Given the description of an element on the screen output the (x, y) to click on. 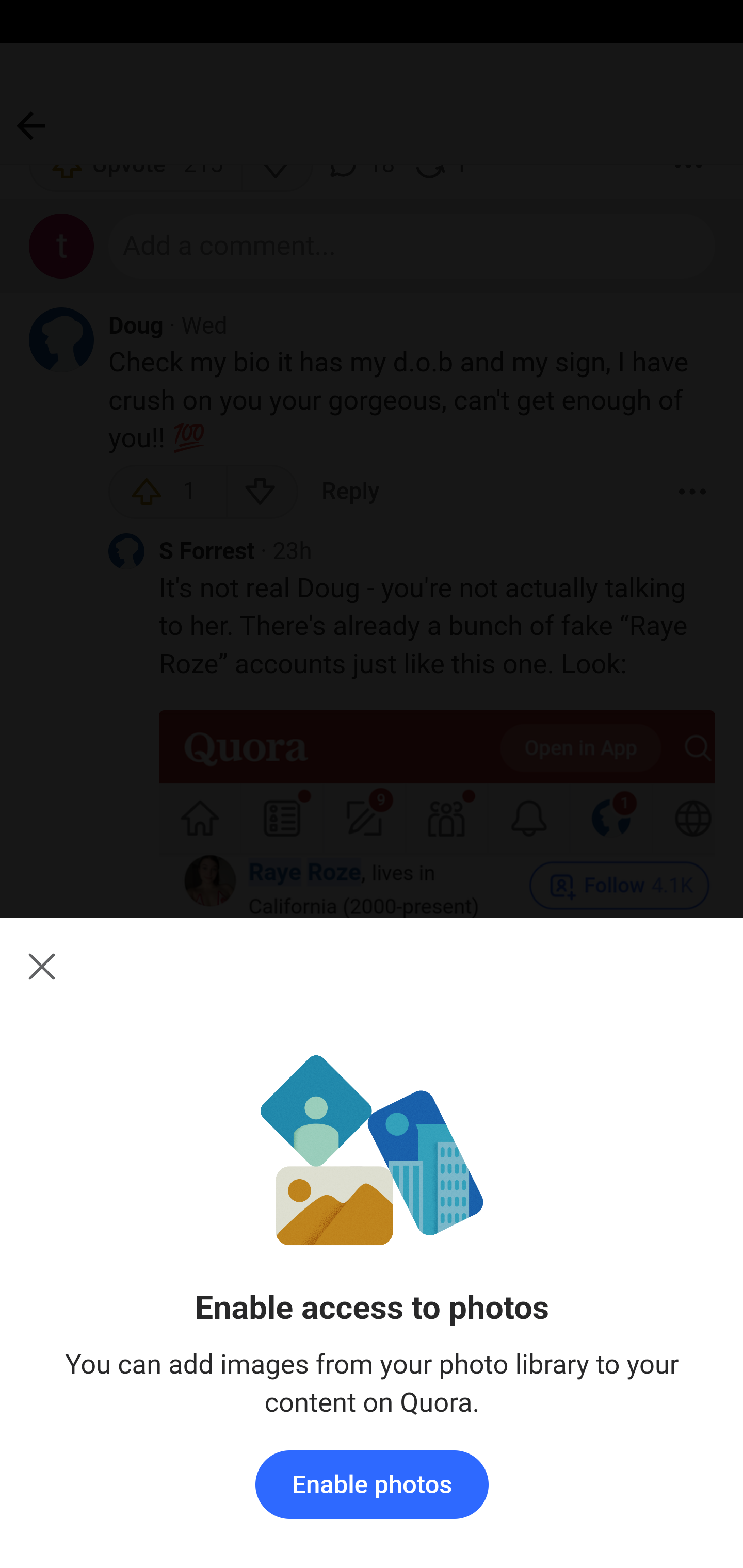
Quora (371, 1495)
